Given the description of an element on the screen output the (x, y) to click on. 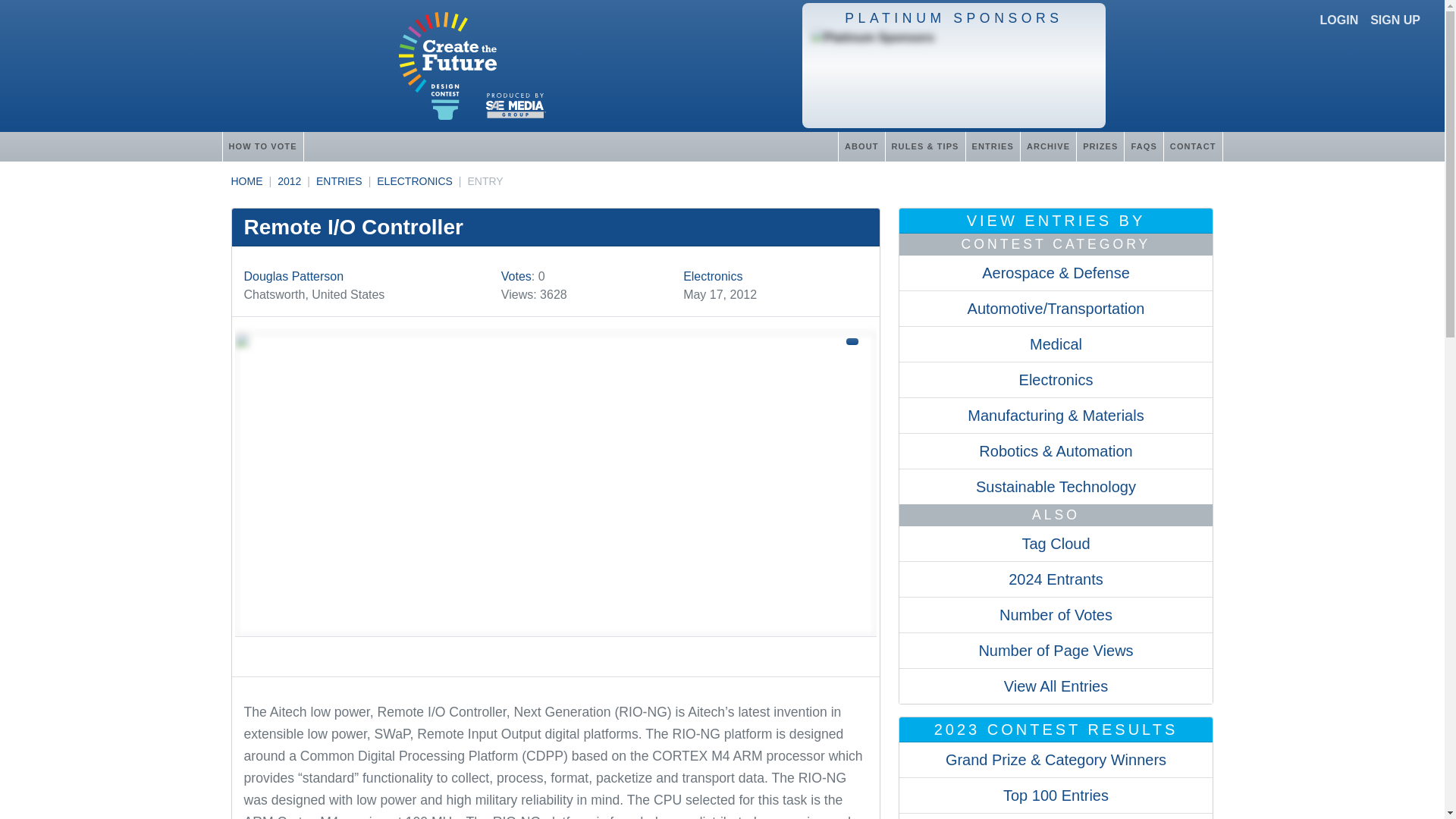
Goto slide (555, 650)
ENTRIES (992, 146)
Douglas Patterson (293, 276)
ARCHIVE (1047, 146)
FAQS (1142, 146)
ELECTRONICS (414, 181)
HOW TO VOTE (261, 146)
SIGN UP (1395, 20)
Electronics (712, 276)
LOGIN (1339, 20)
